Given the description of an element on the screen output the (x, y) to click on. 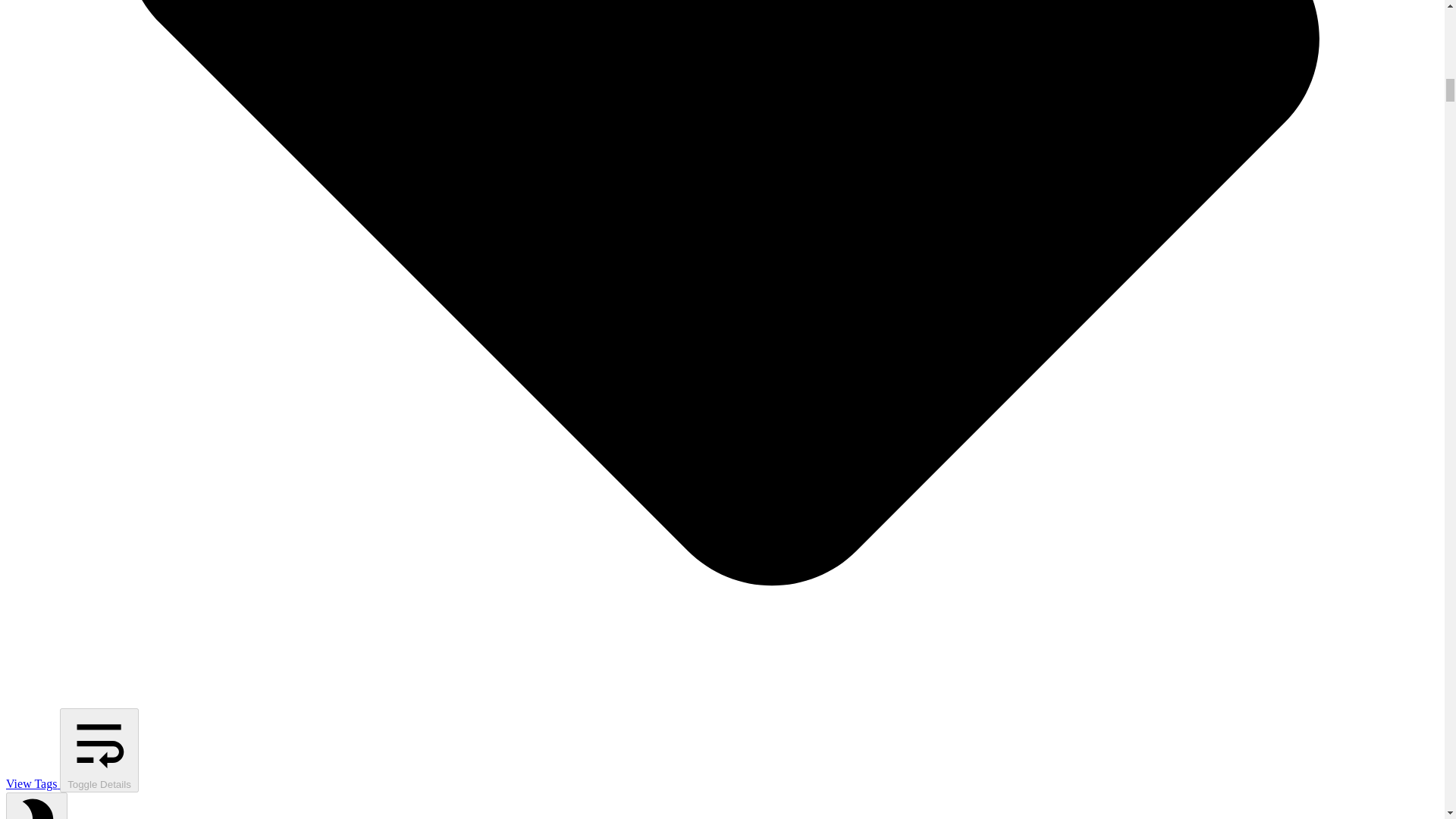
Toggle Details (98, 750)
Dark Mode (35, 805)
